Given the description of an element on the screen output the (x, y) to click on. 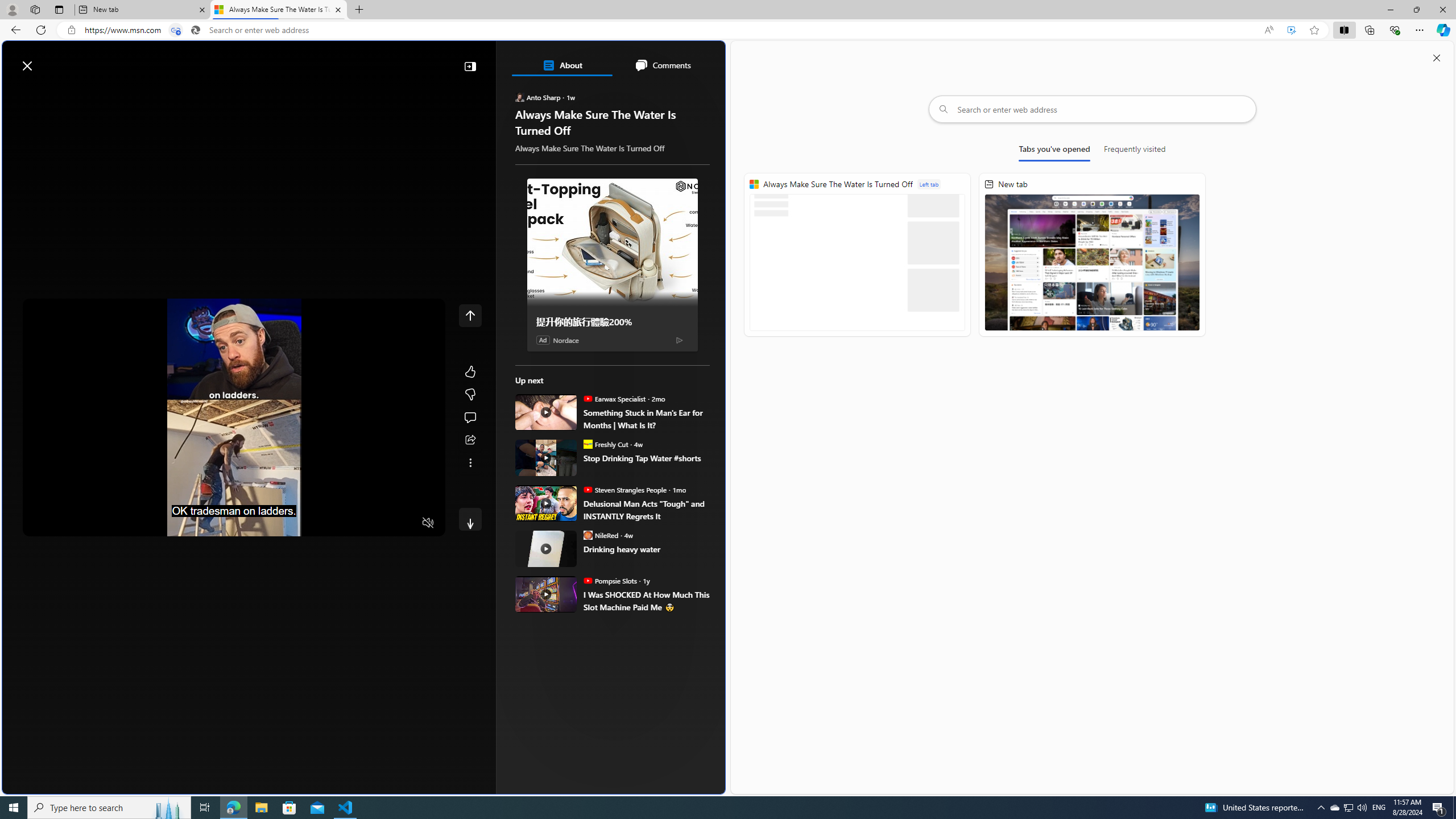
Pompsie Slots (587, 580)
Collections (1369, 29)
Pompsie Slots Pompsie Slots (609, 580)
Seek Forward (85, 523)
Open Copilot (566, 59)
AutomationID: e5rZOEMGacU1 (469, 518)
App bar (728, 29)
Tabs in split screen (175, 29)
Ad Choice (678, 339)
Freshly Cut (587, 443)
ABC News (554, 415)
Watch (141, 92)
